Given the description of an element on the screen output the (x, y) to click on. 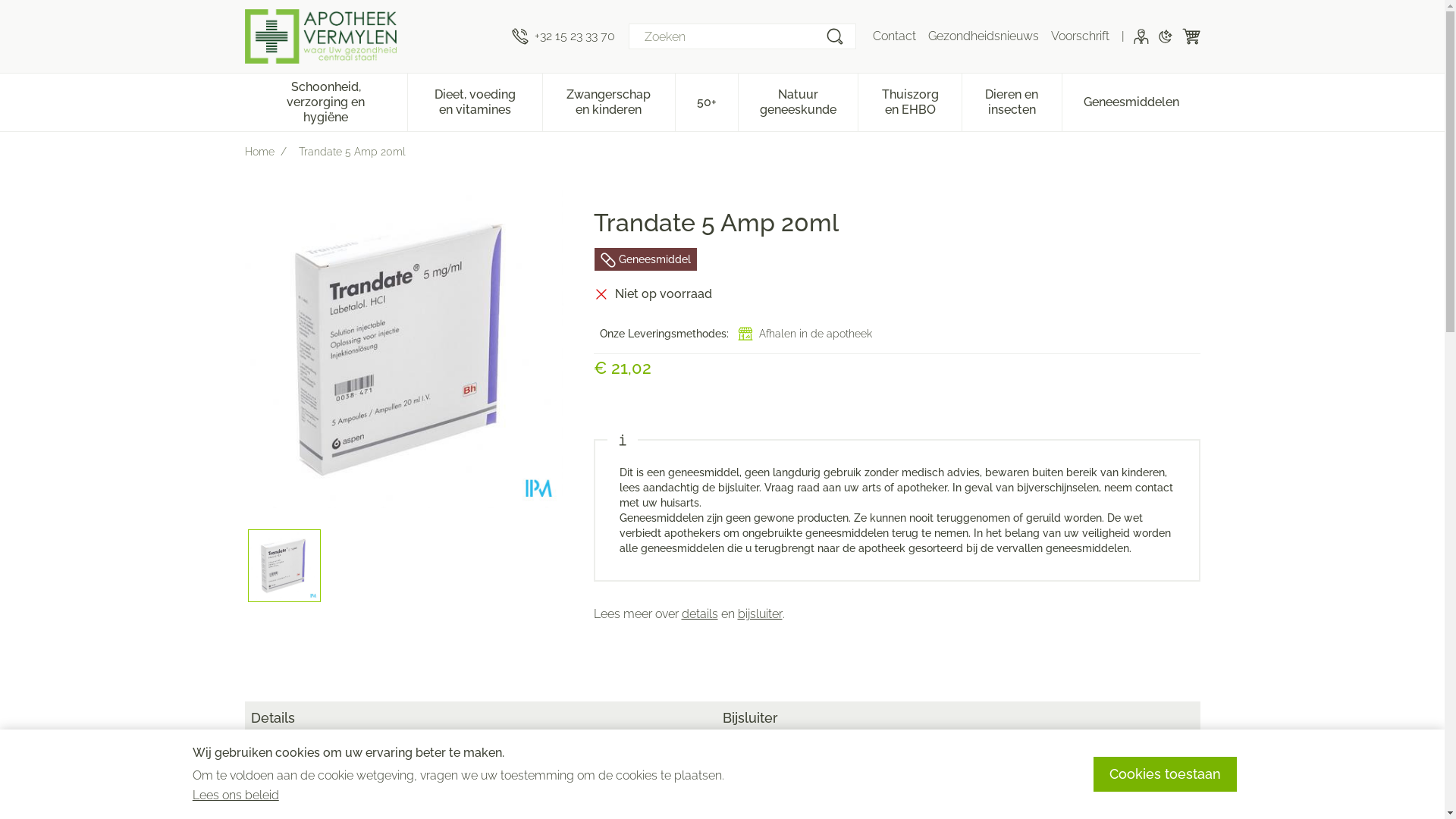
Lees ons beleid Element type: text (235, 794)
50+ Element type: text (706, 100)
Dieet, voeding en vitamines Element type: text (474, 100)
Natuur geneeskunde Element type: text (797, 100)
Winkelwagen Element type: text (1190, 36)
Apotheek Vermylen Element type: hover (319, 36)
Donkere modus Element type: text (1164, 35)
Zwangerschap en kinderen Element type: text (608, 100)
Voorschrift Element type: text (1080, 35)
Contact Element type: text (893, 35)
Trandate 5 Amp 20ml Element type: hover (284, 565)
Home Element type: text (258, 151)
Zoeken Element type: text (834, 36)
Geneesmiddelen Element type: text (1131, 100)
Apotheek Vermylen Element type: hover (371, 36)
+32 15 23 33 70 Element type: text (562, 36)
Klant menu Element type: text (1140, 35)
Thuiszorg en EHBO Element type: text (909, 100)
Gezondheidsnieuws Element type: text (983, 35)
Trandate 5 Amp 20ml Element type: hover (403, 348)
Cookies toestaan Element type: text (1164, 773)
Dieren en insecten Element type: text (1011, 100)
